Given the description of an element on the screen output the (x, y) to click on. 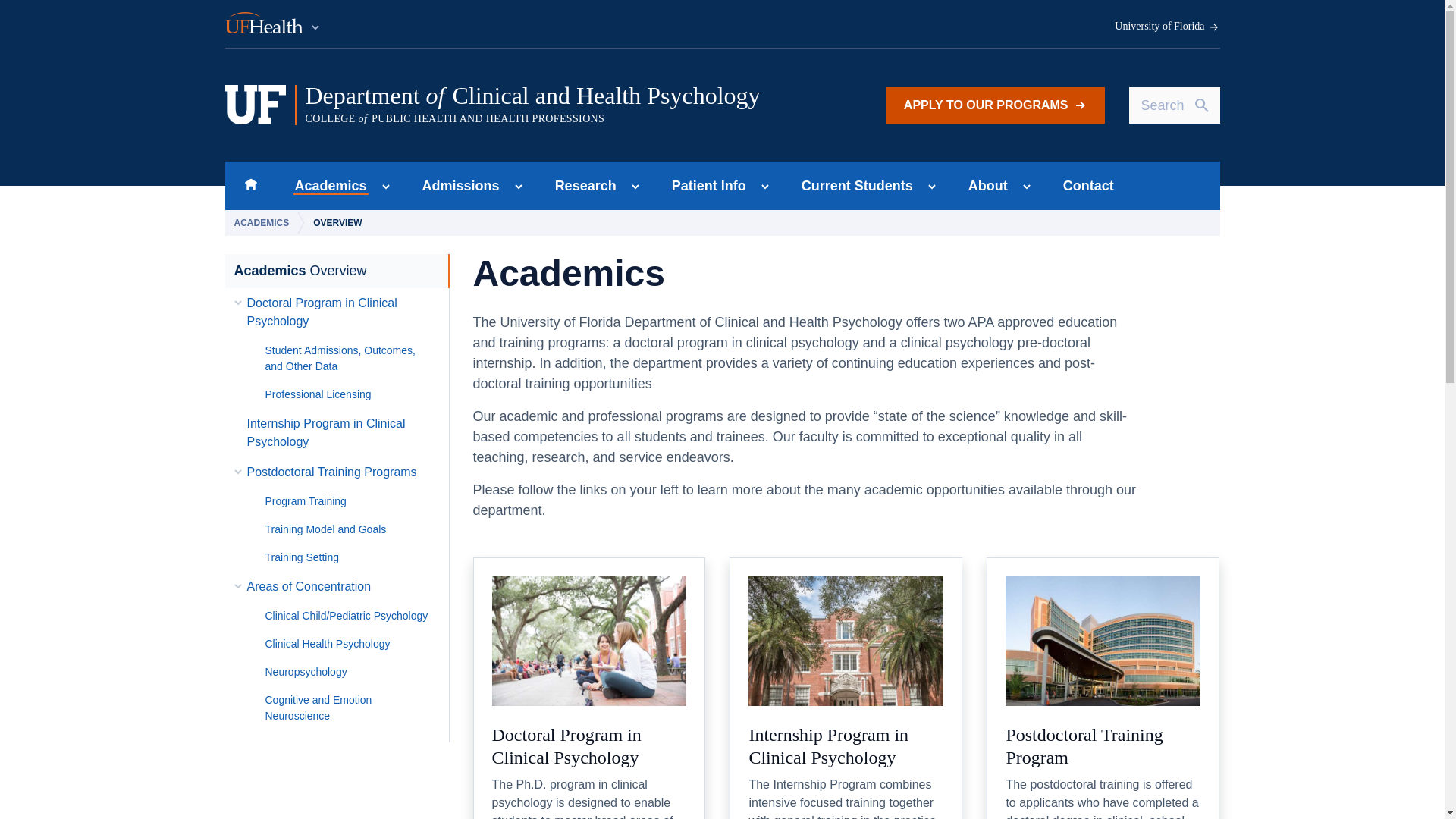
UF Health (272, 24)
Skip to main content (325, 185)
Skip to main content (250, 185)
APPLY TO OUR PROGRAMS (456, 185)
University of Florida (995, 104)
